Given the description of an element on the screen output the (x, y) to click on. 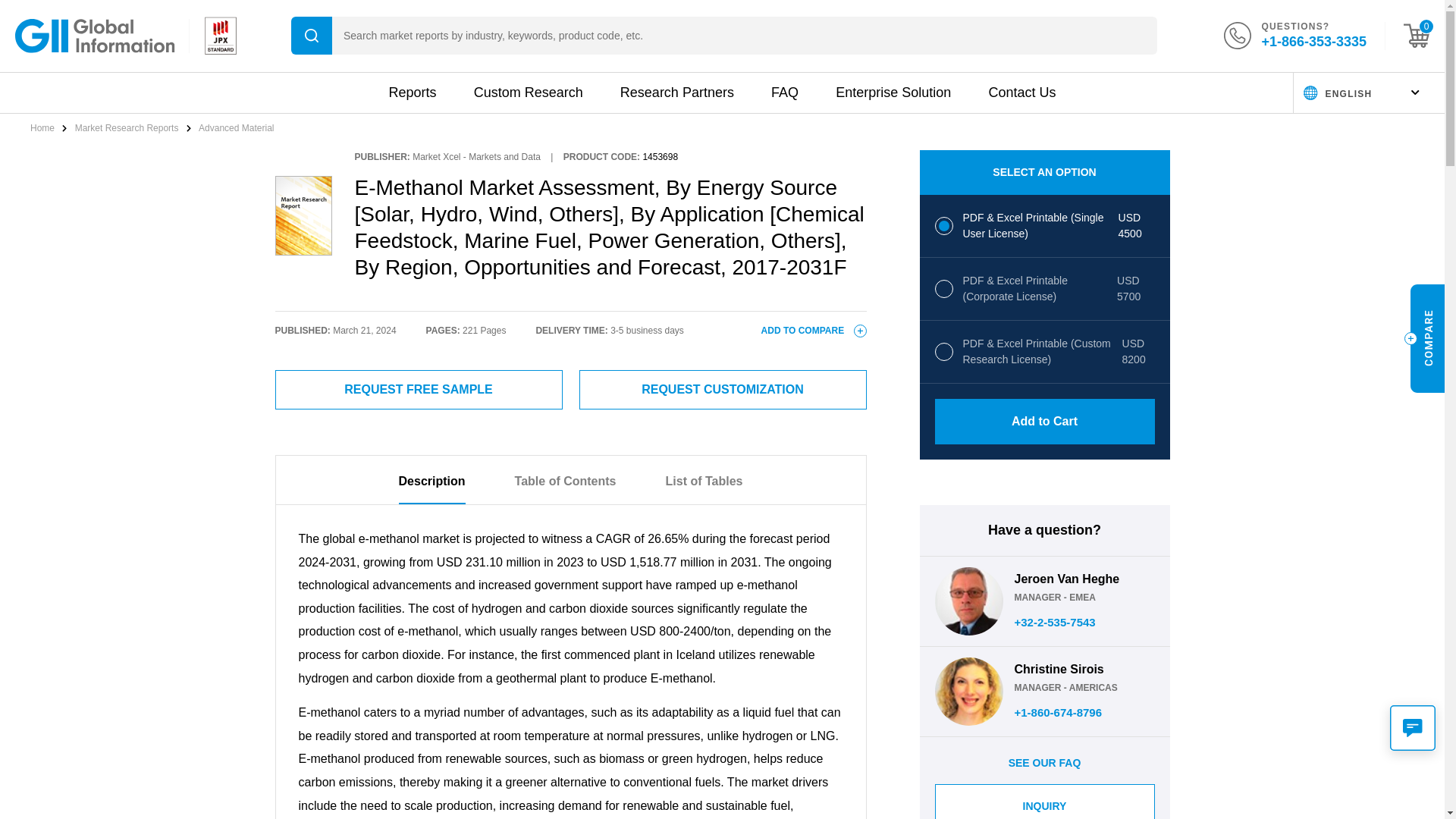
REQUEST FREE SAMPLE (418, 389)
Research Partners (676, 92)
Home (43, 127)
Custom Research (528, 92)
Description (431, 489)
Table of Contents (565, 489)
FAQ (784, 92)
Advanced Material (235, 127)
List of Tables (703, 489)
Enterprise Solution (892, 92)
ADD TO COMPARE (813, 330)
Reports (411, 92)
REQUEST CUSTOMIZATION (722, 389)
0 (1416, 35)
Market Research Reports (127, 127)
